Given the description of an element on the screen output the (x, y) to click on. 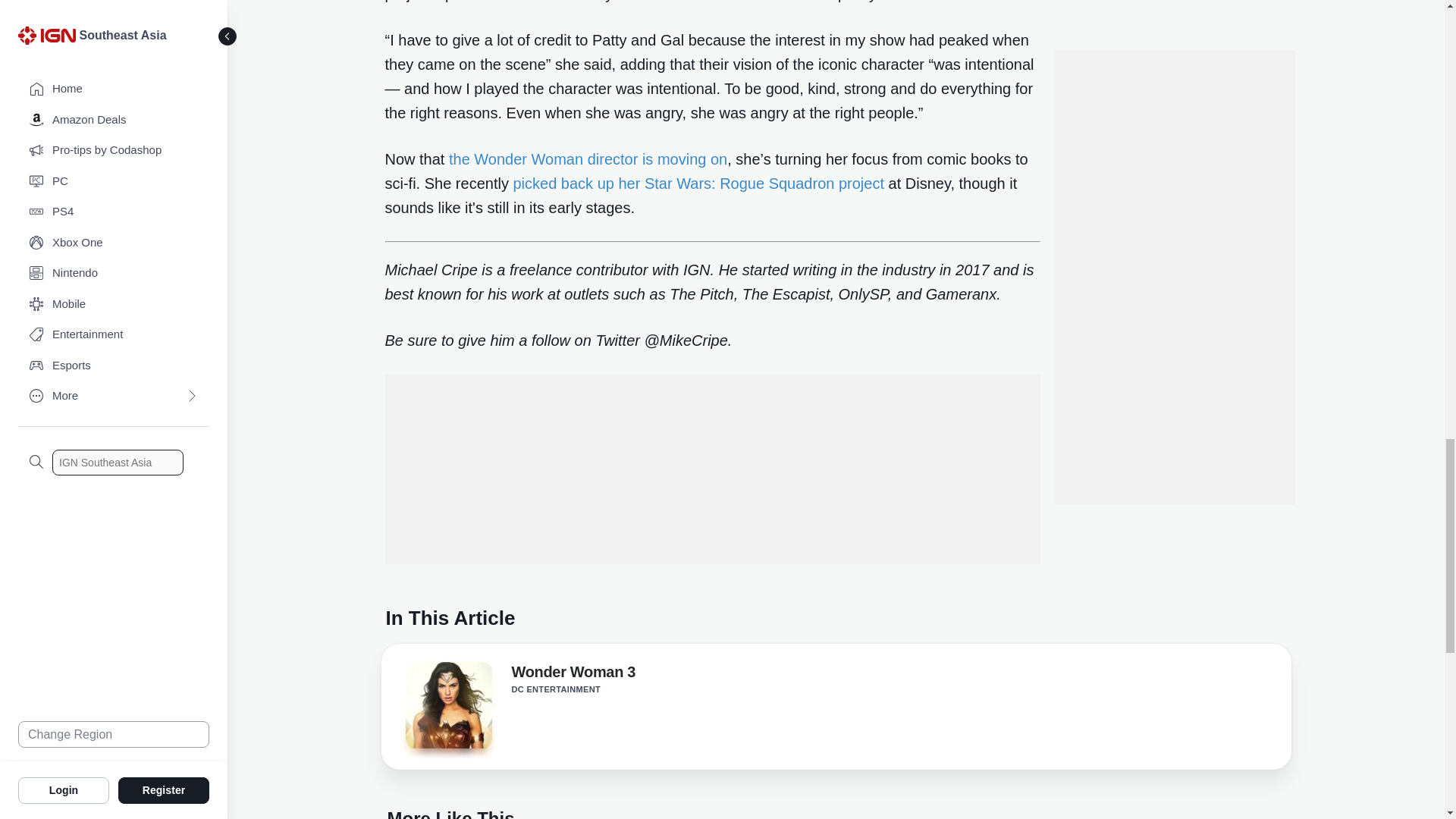
Wonder Woman 3 (448, 709)
Wonder Woman 3 (572, 674)
Wonder Woman 3 (448, 704)
